Given the description of an element on the screen output the (x, y) to click on. 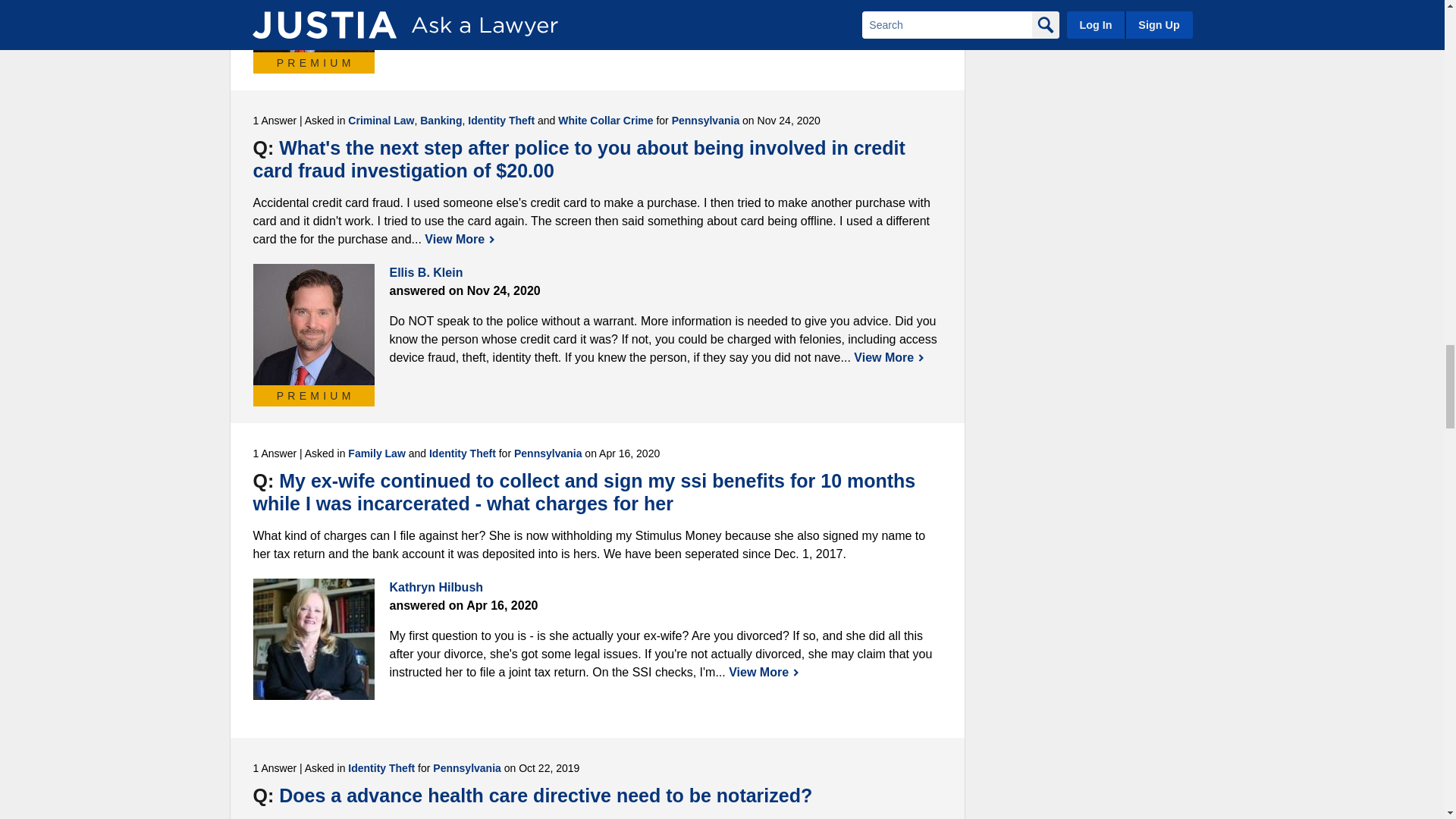
Ellis B. Klein (313, 26)
Ellis B. Klein (313, 323)
Kathryn Hilbush (313, 639)
